Given the description of an element on the screen output the (x, y) to click on. 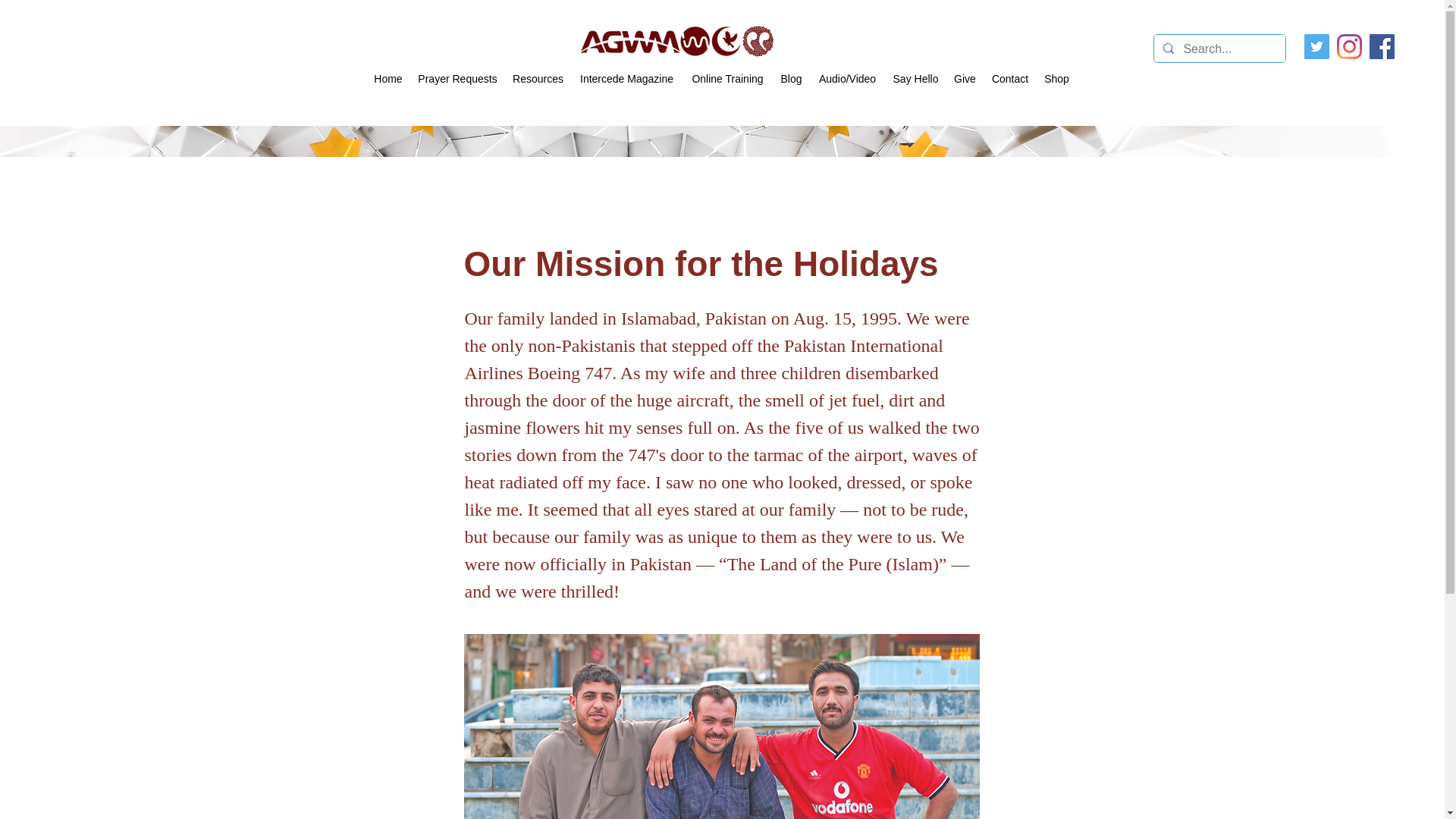
Intercede Magazine (626, 78)
Shop (1056, 78)
Prayer Requests (457, 78)
Resources (537, 78)
Contact (1010, 78)
Home (388, 78)
Our Mission for the Holidays (721, 726)
Say Hello (915, 78)
Blog (791, 78)
Online Training (727, 78)
Give (965, 78)
